Given the description of an element on the screen output the (x, y) to click on. 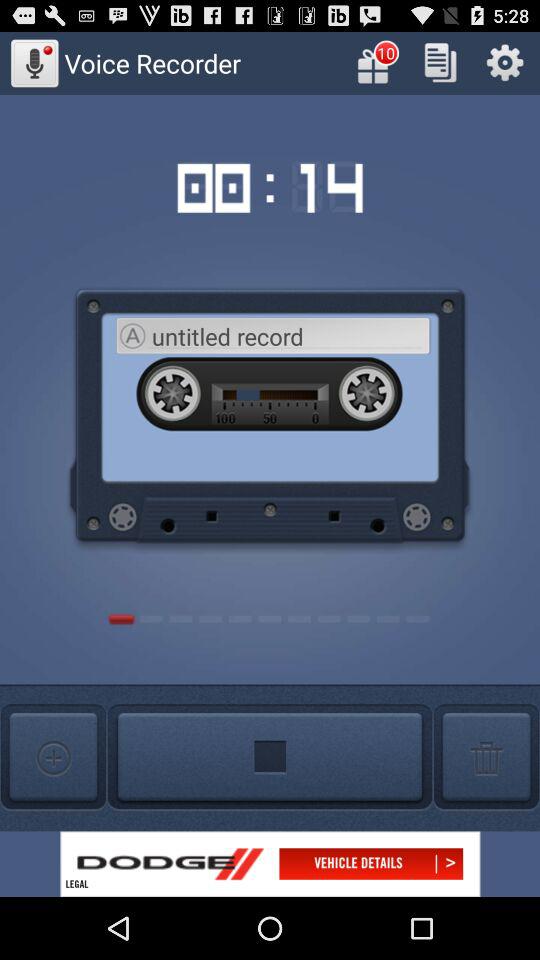
add voice recording (53, 757)
